Given the description of an element on the screen output the (x, y) to click on. 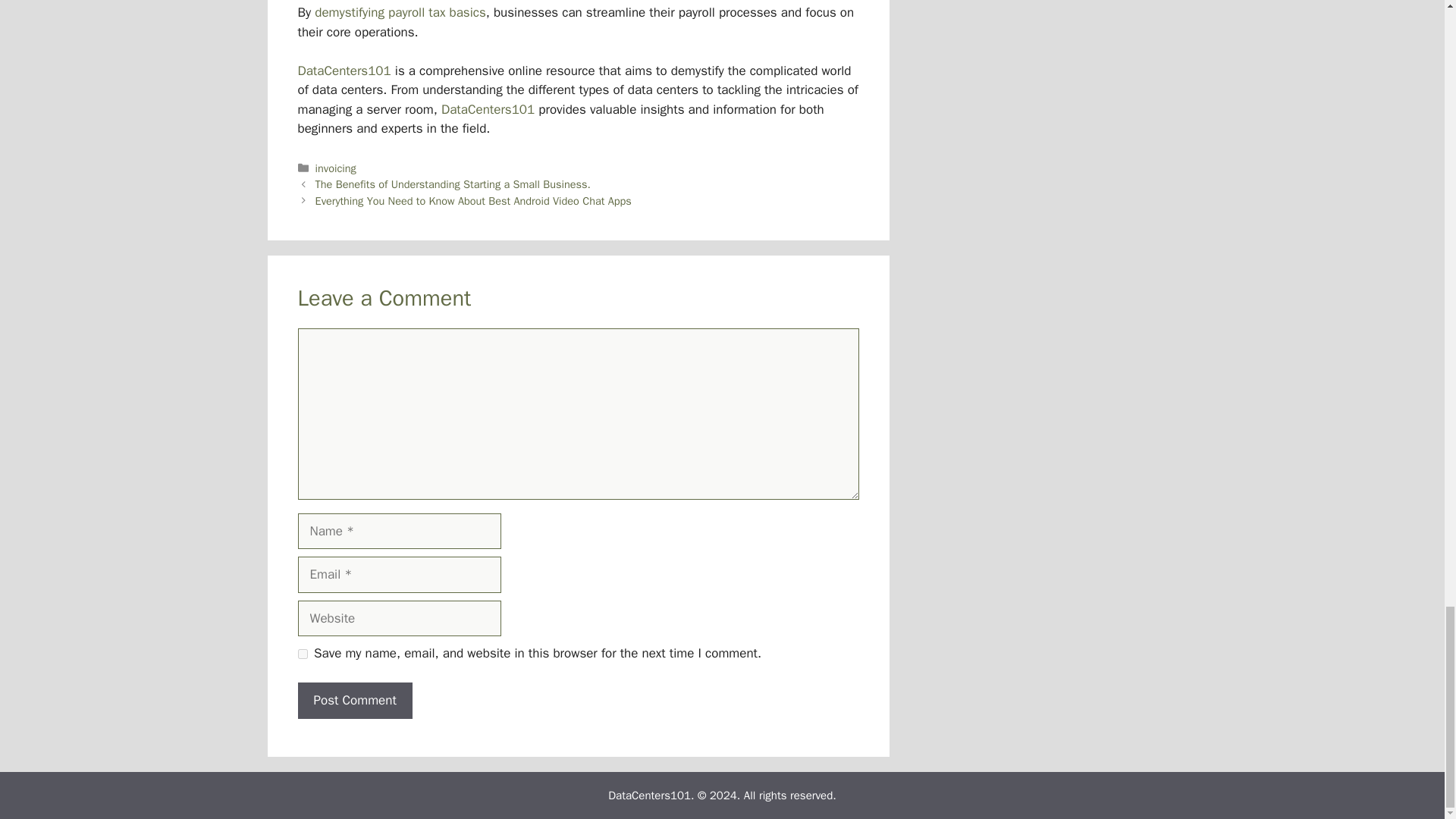
DataCenters101 (649, 795)
DataCenters101 (343, 70)
invoicing (335, 168)
Demystifying Payroll Tax Basics (399, 12)
DataCenters101 (487, 109)
The Benefits of Understanding Starting a Small Business. (453, 183)
Post Comment (354, 700)
Post Comment (354, 700)
yes (302, 654)
